Given the description of an element on the screen output the (x, y) to click on. 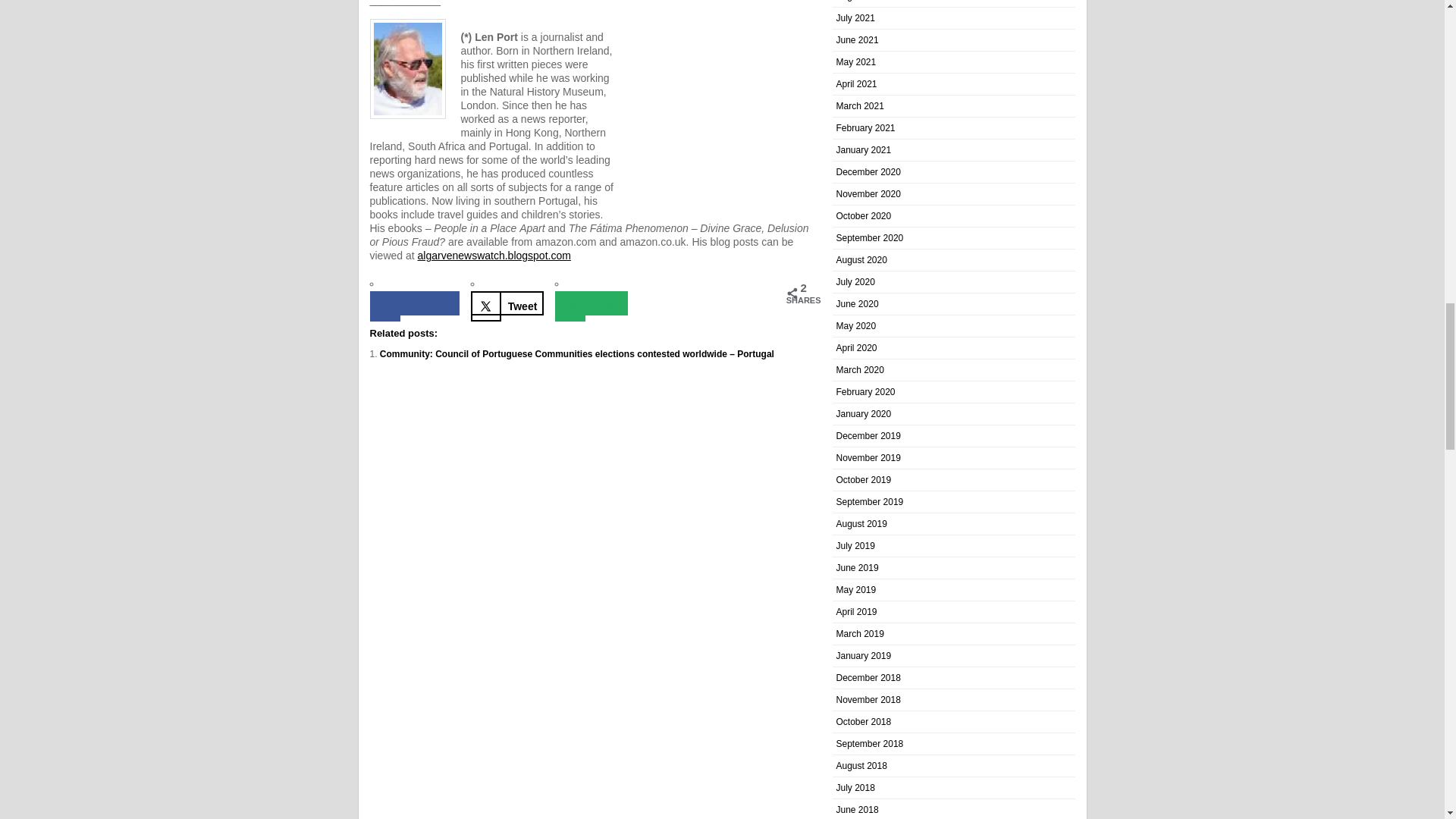
Share on Facebook (414, 303)
Send over email (590, 303)
Share on X (507, 303)
